Given the description of an element on the screen output the (x, y) to click on. 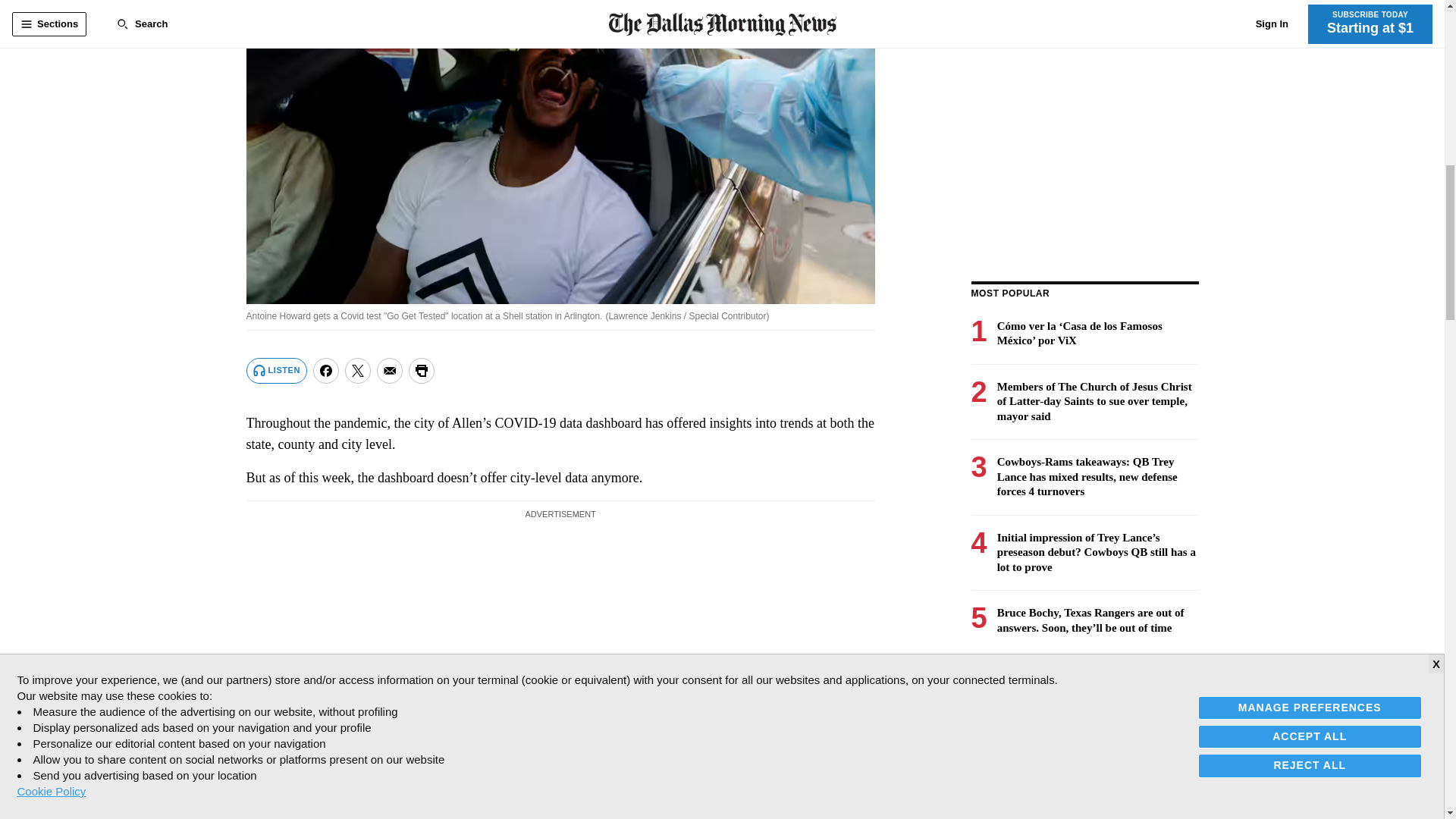
Share via Email (390, 370)
Share on Twitter (358, 370)
Share on Facebook (326, 370)
Print (421, 370)
